Given the description of an element on the screen output the (x, y) to click on. 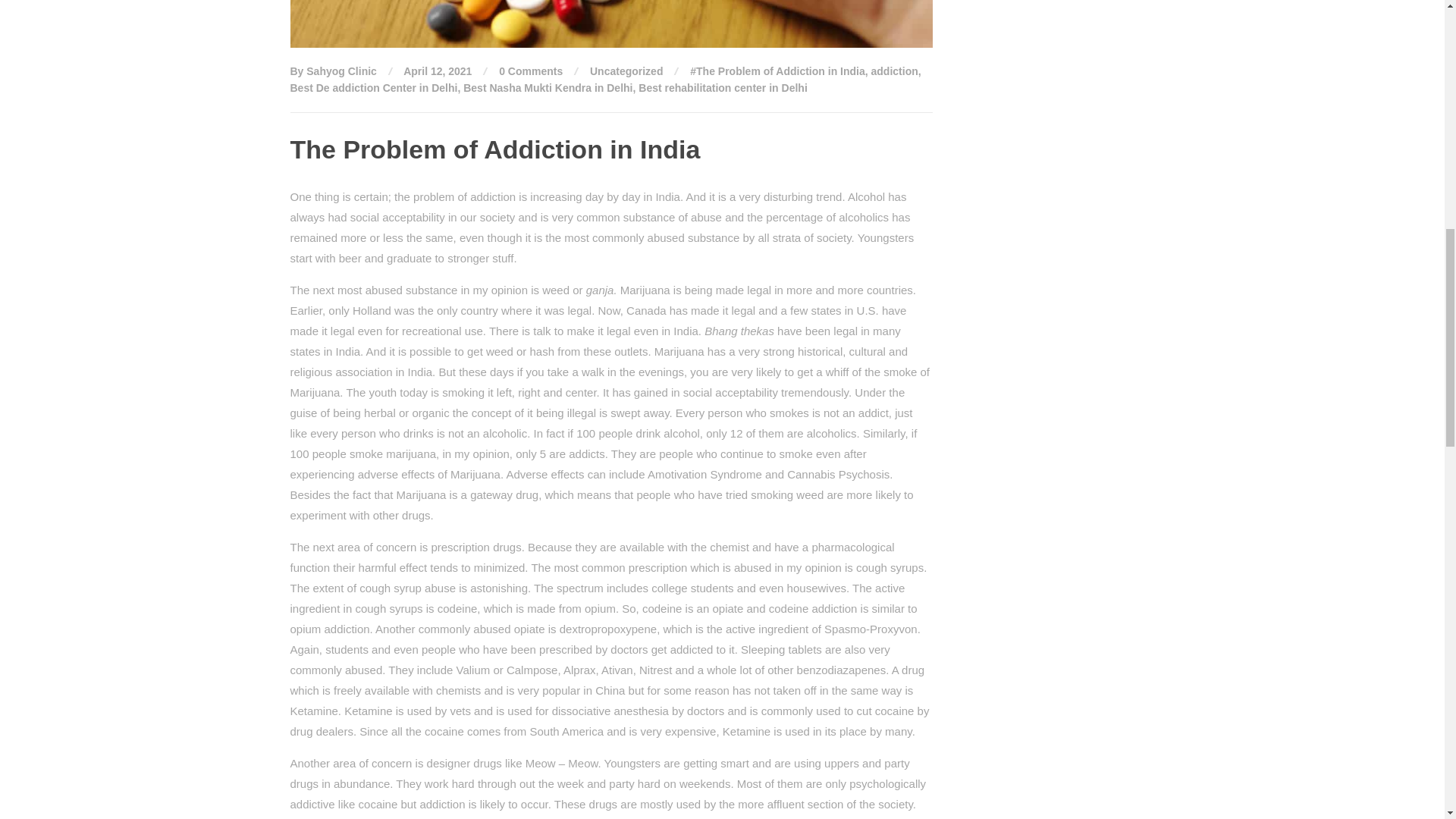
Uncategorized (625, 70)
Best De addiction Center in Delhi (373, 87)
Best rehabilitation center in Delhi (723, 87)
Best Nasha Mukti Kendra in Delhi (547, 87)
0 Comments (530, 70)
addiction (894, 70)
